Given the description of an element on the screen output the (x, y) to click on. 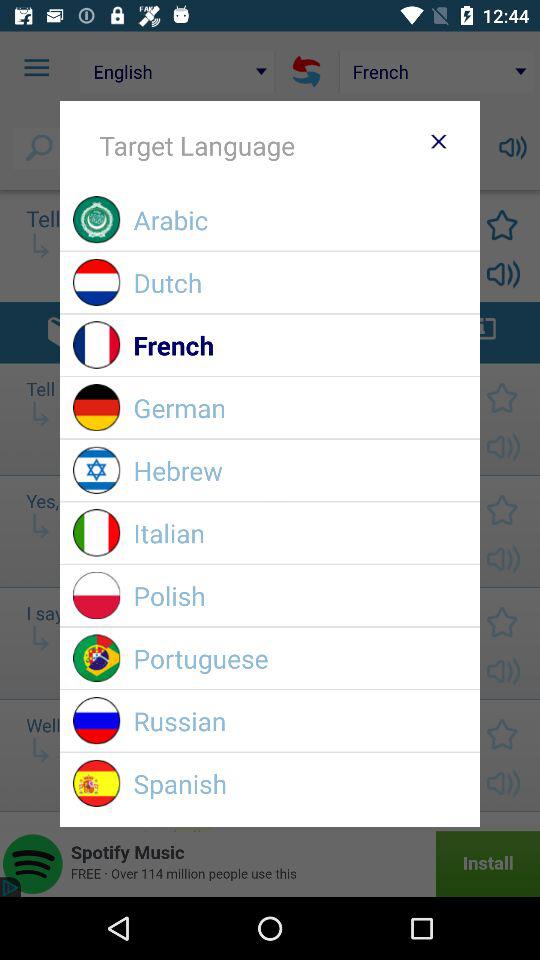
tap icon above the italian (300, 470)
